Given the description of an element on the screen output the (x, y) to click on. 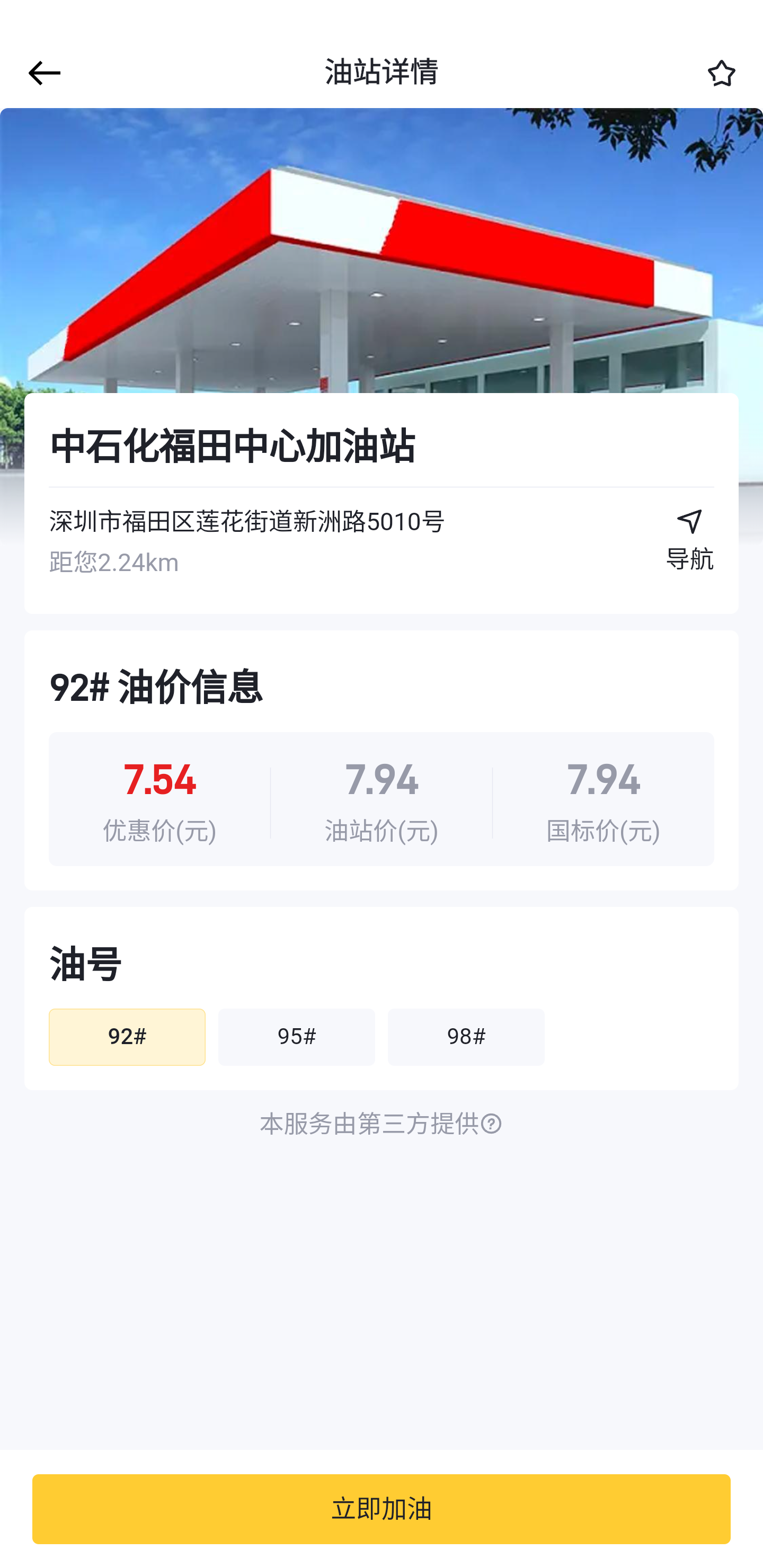
 (41, 72)
油站详情 (381, 72)
default.0da6835c (381, 327)
导航 (689, 547)
92#  (126, 1037)
95#  (296, 1037)
98#  (466, 1037)
本服务由第三方提供 (381, 1124)
立即加油 (381, 1508)
